Given the description of an element on the screen output the (x, y) to click on. 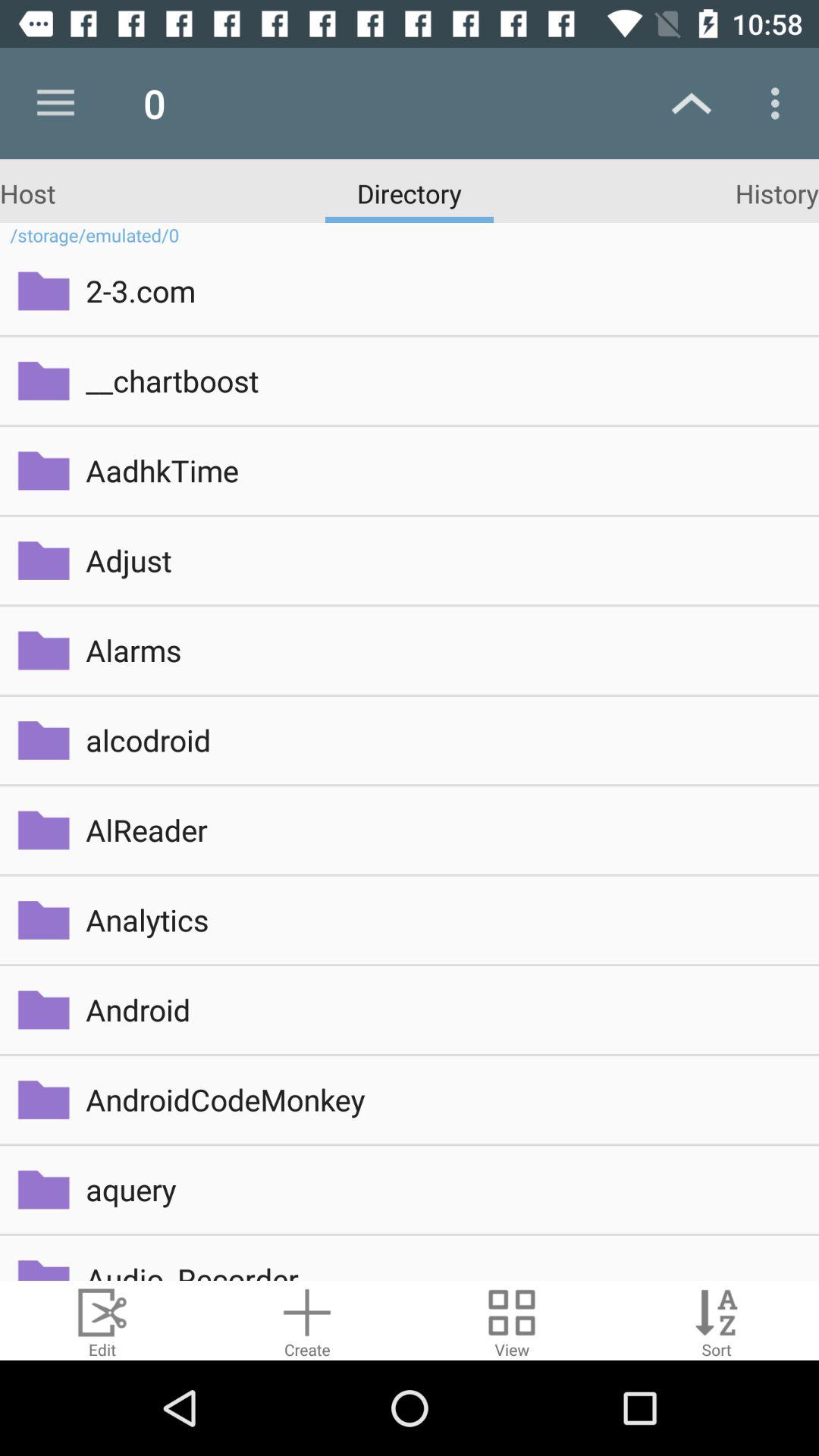
select the folder above the alarms (44, 560)
click on the last folder icon from top (44, 1264)
select the tab history on the web page (777, 193)
click on the up arrow mark at the top right of the page (691, 103)
click on view button which is at bottom of the page (511, 1320)
click the folder icon on left to the button alarms on the web page (44, 650)
